Given the description of an element on the screen output the (x, y) to click on. 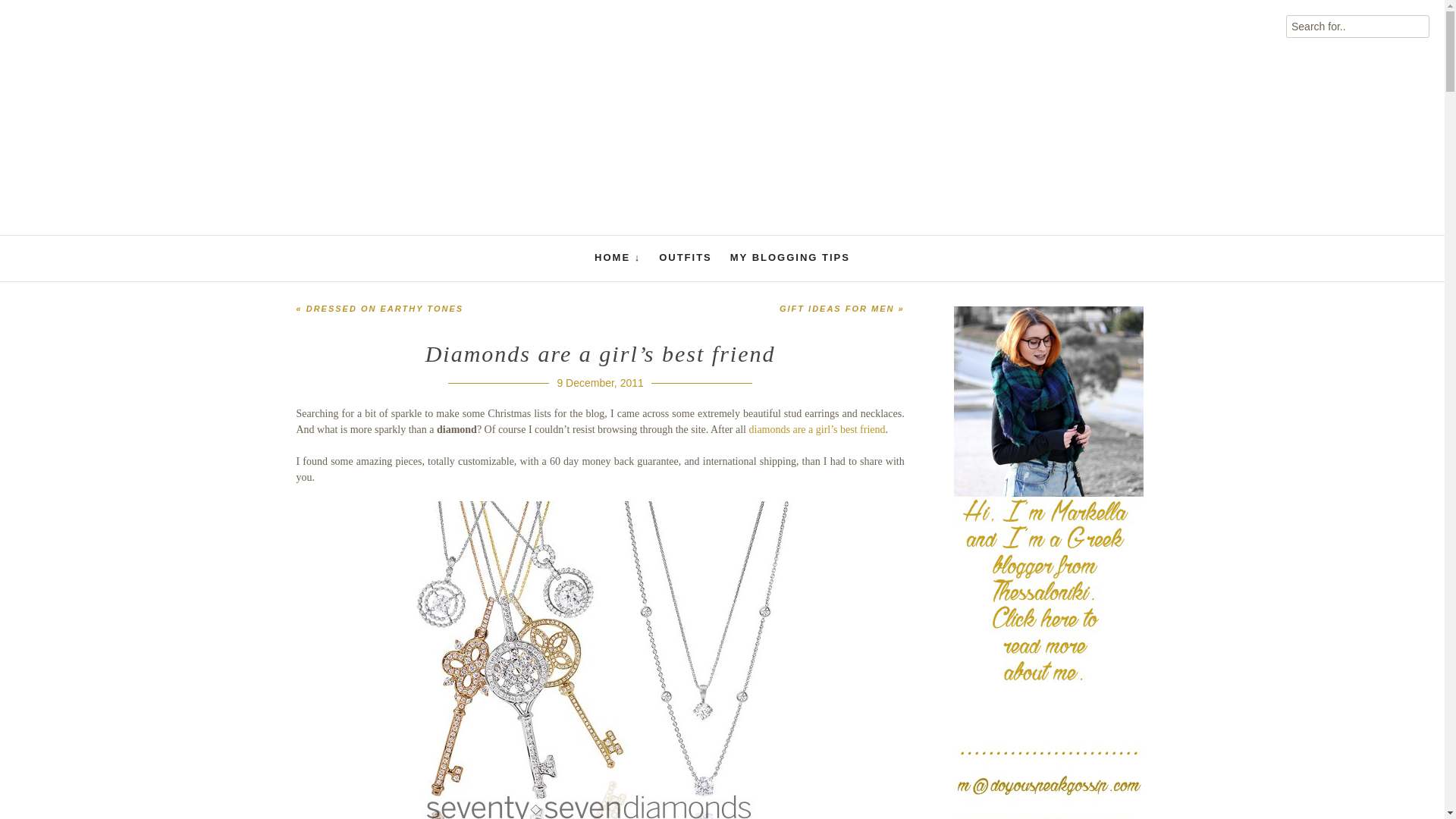
MY BLOGGING TIPS (790, 256)
Skip to content (329, 61)
Skip to content (329, 61)
Search for..  (1357, 26)
OUTFITS (685, 256)
Search (33, 17)
